Given the description of an element on the screen output the (x, y) to click on. 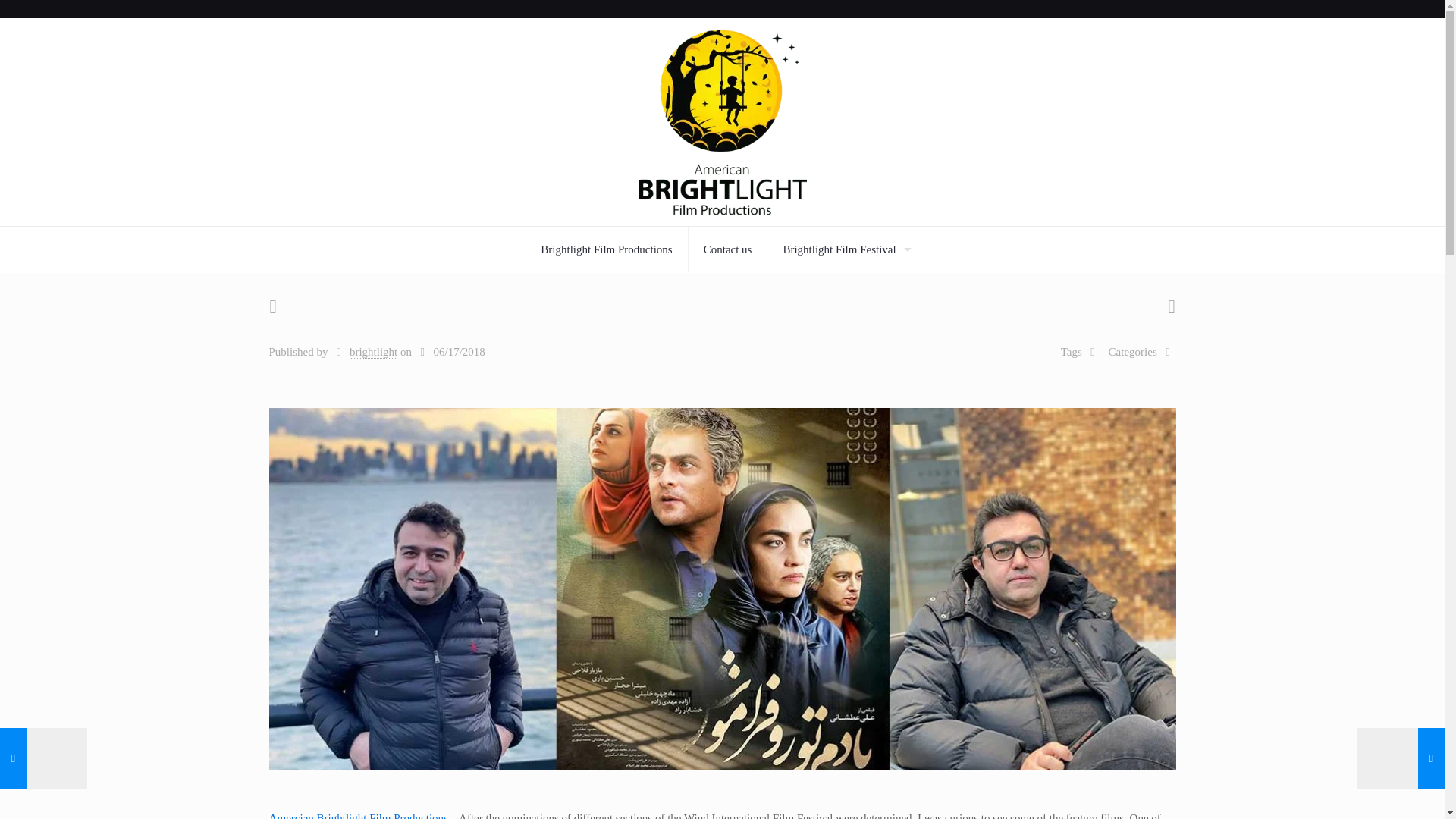
Brightlight Film Productions (606, 248)
brightlight (373, 351)
American Brightlight Film (722, 122)
Brightlight Film Festival (842, 248)
Contact us (728, 248)
